Given the description of an element on the screen output the (x, y) to click on. 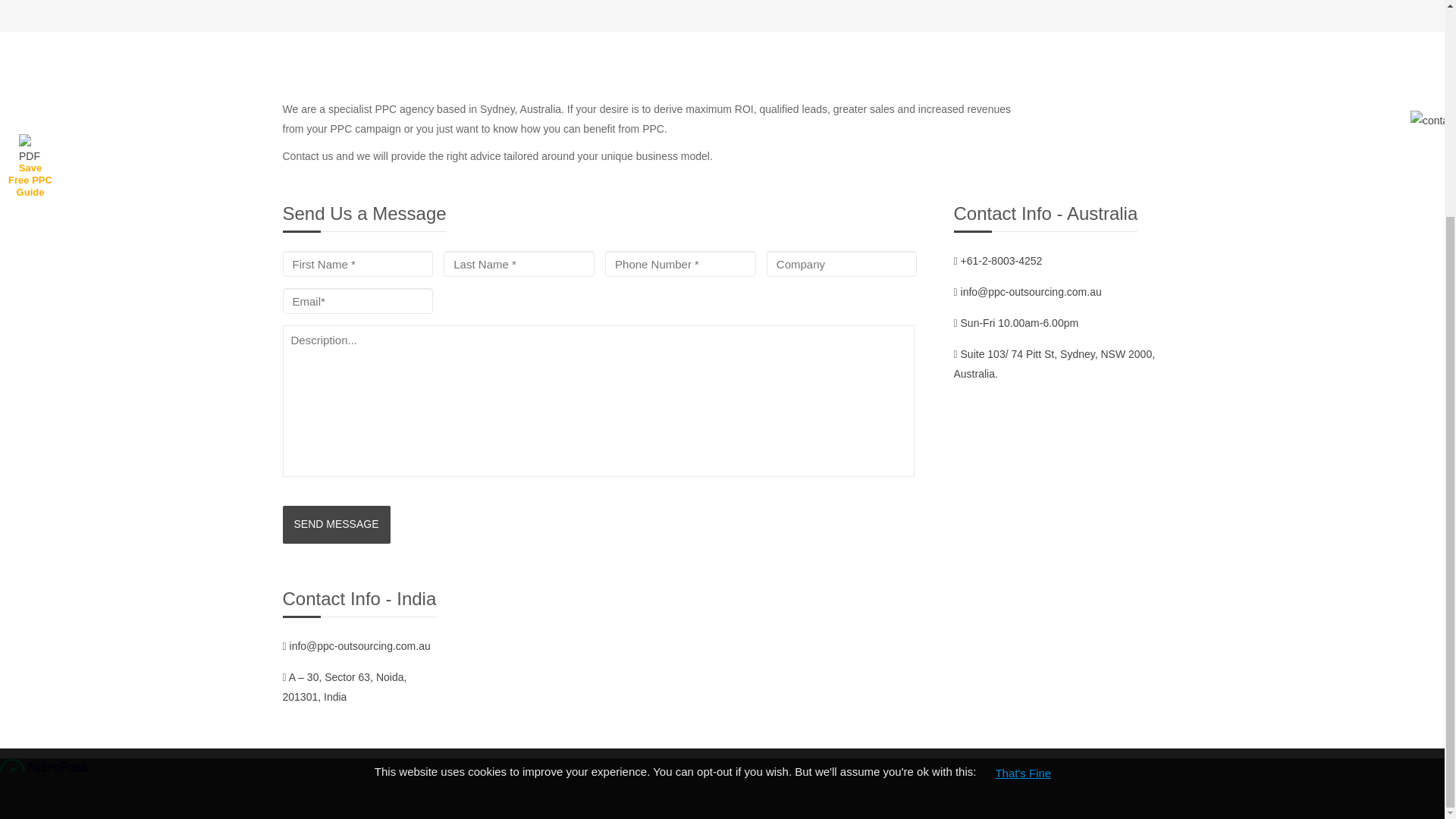
SEND MESSAGE (336, 524)
